Given the description of an element on the screen output the (x, y) to click on. 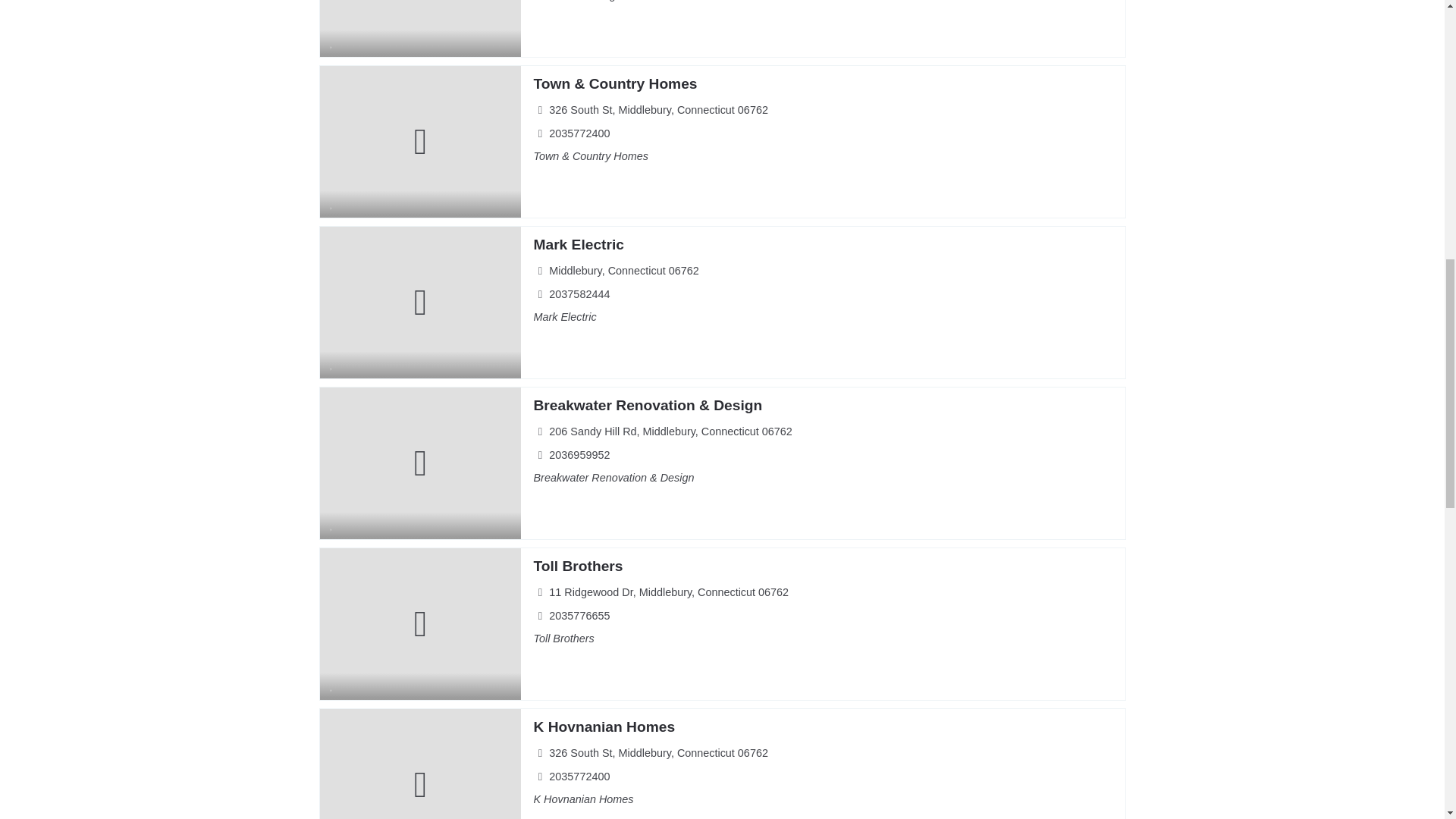
K Hovnanian Homes (603, 726)
Toll Brothers (577, 565)
Mark Electric (577, 244)
Mark Electric (577, 244)
